Given the description of an element on the screen output the (x, y) to click on. 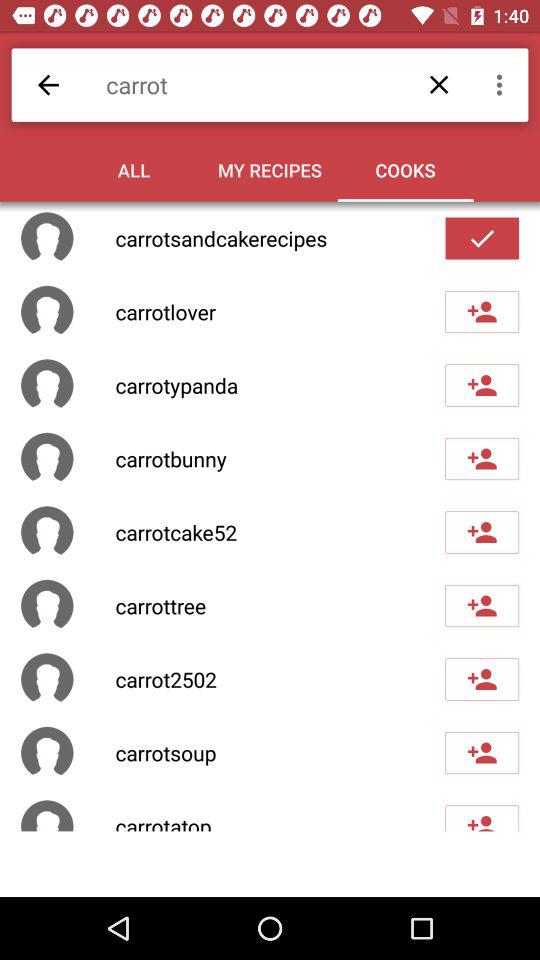
send invitation (482, 679)
